Given the description of an element on the screen output the (x, y) to click on. 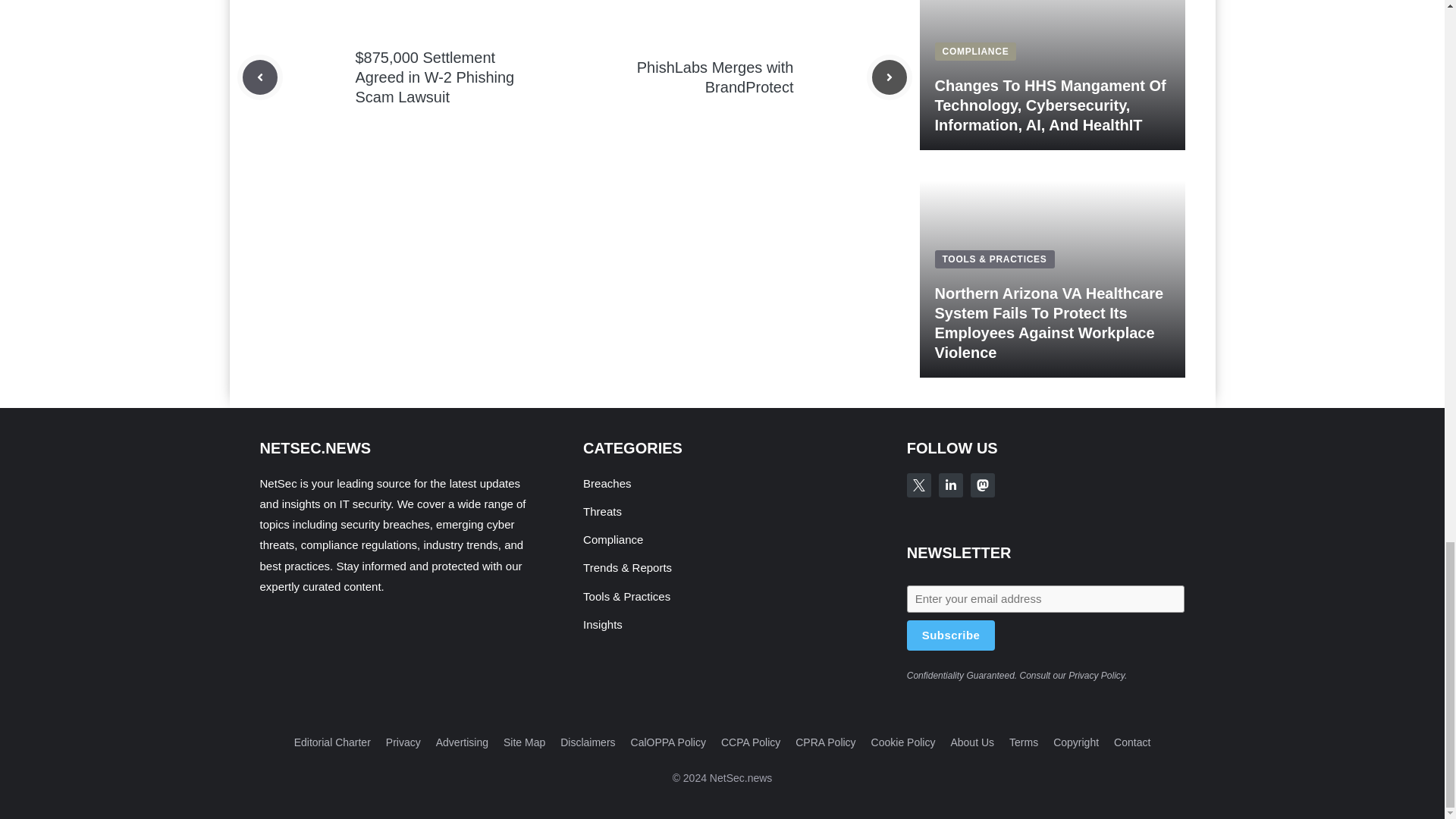
PhishLabs Merges with BrandProtect (715, 76)
Subscribe (951, 634)
COMPLIANCE (975, 50)
Breaches (606, 482)
